Given the description of an element on the screen output the (x, y) to click on. 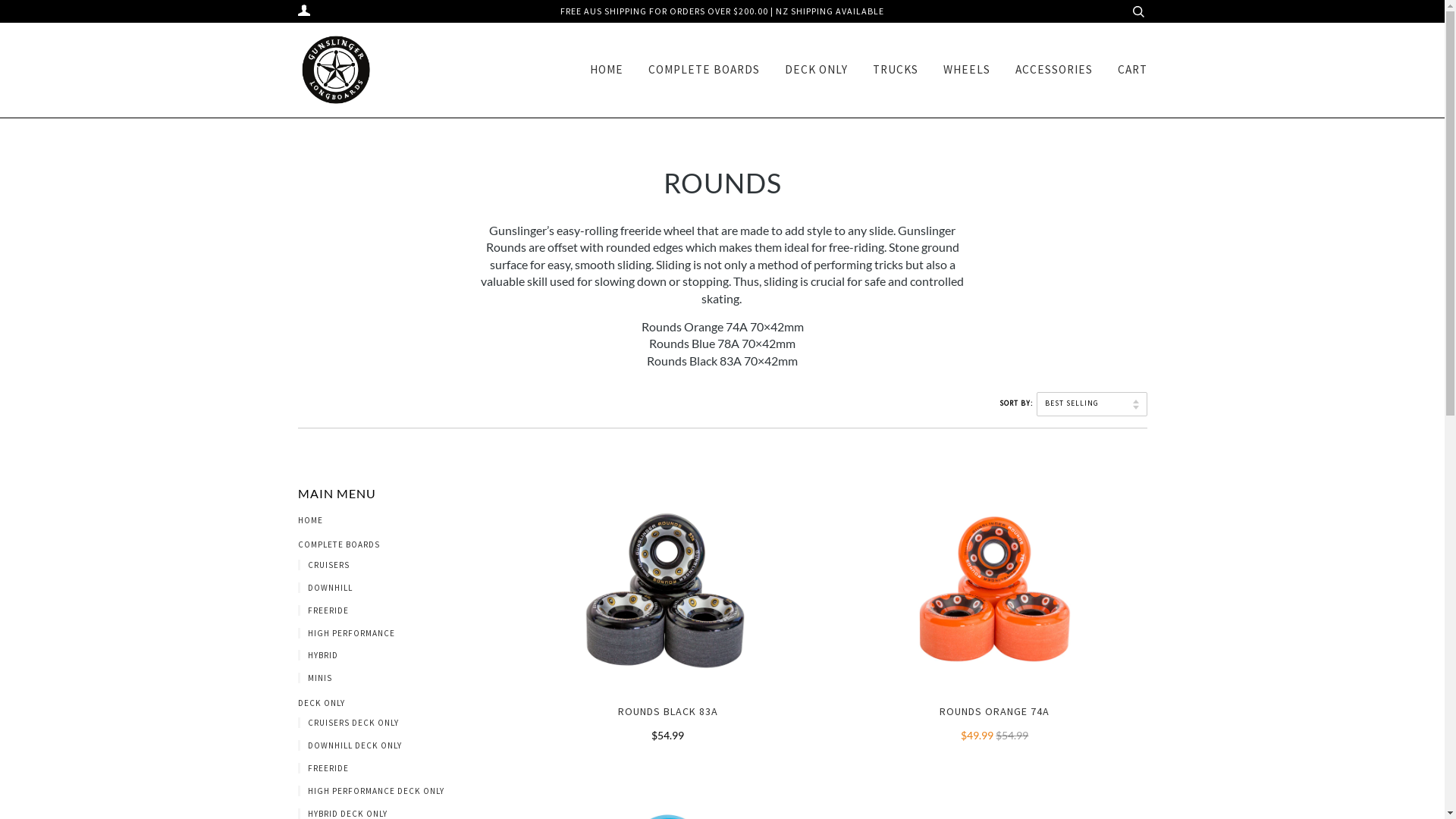
TRUCKS Element type: text (894, 69)
HOME Element type: text (606, 69)
HOME Element type: text (305, 519)
ROUNDS ORANGE 74A
$49.99 $54.99 Element type: text (994, 723)
COMPLETE BOARDS Element type: text (333, 544)
CRUISERS Element type: text (322, 564)
HIGH PERFORMANCE DECK ONLY Element type: text (370, 790)
COMPLETE BOARDS Element type: text (703, 69)
DECK ONLY Element type: text (316, 702)
DECK ONLY Element type: text (815, 69)
HYBRID Element type: text (317, 654)
CRUISERS DECK ONLY Element type: text (347, 722)
CART Element type: text (1132, 69)
ACCESSORIES Element type: text (1053, 69)
FREERIDE Element type: text (322, 767)
WHEELS Element type: text (966, 69)
MINIS Element type: text (314, 677)
DOWNHILL Element type: text (324, 587)
FREERIDE Element type: text (322, 610)
HIGH PERFORMANCE Element type: text (345, 632)
DOWNHILL DECK ONLY Element type: text (349, 745)
ROUNDS BLACK 83A
$54.99 Element type: text (667, 723)
